Given the description of an element on the screen output the (x, y) to click on. 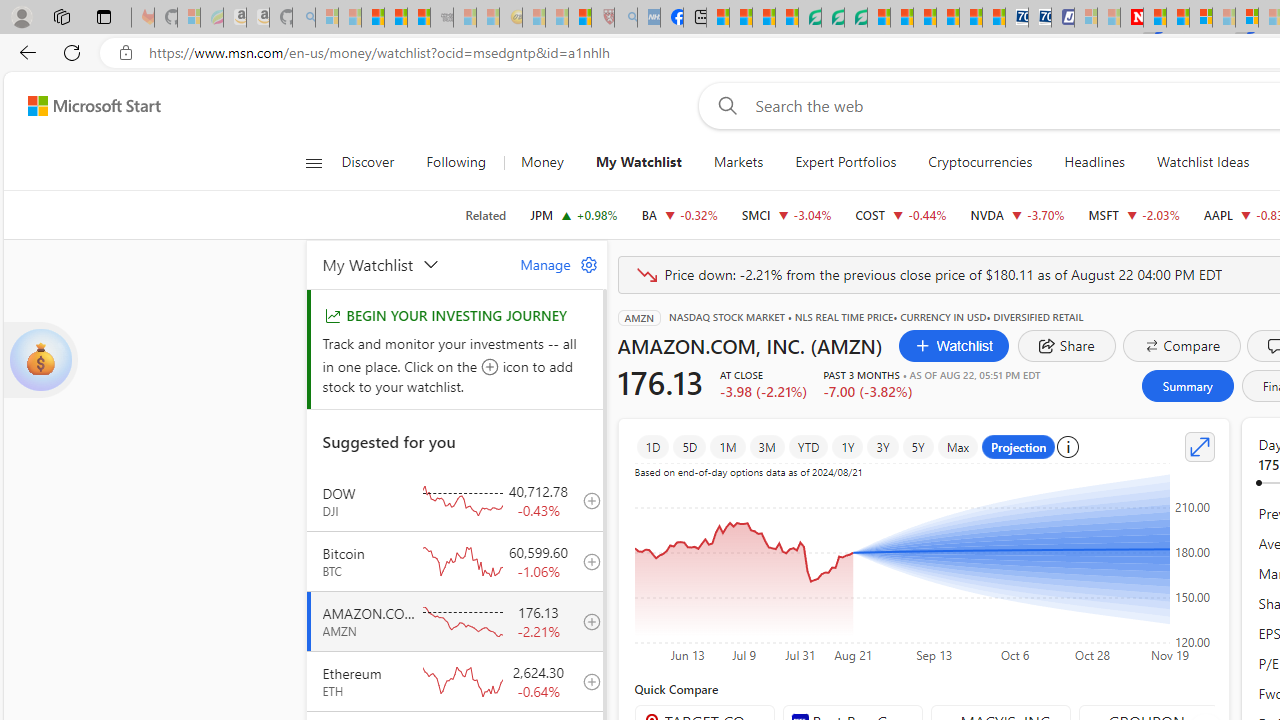
Local - MSN (580, 17)
Projection (1018, 446)
show card (40, 359)
Expert Portfolios (845, 162)
1D (652, 446)
Headlines (1094, 162)
Cheap Hotels - Save70.com (1039, 17)
Watchlist Ideas (1202, 162)
My Watchlist (637, 162)
Cryptocurrencies (980, 162)
